Given the description of an element on the screen output the (x, y) to click on. 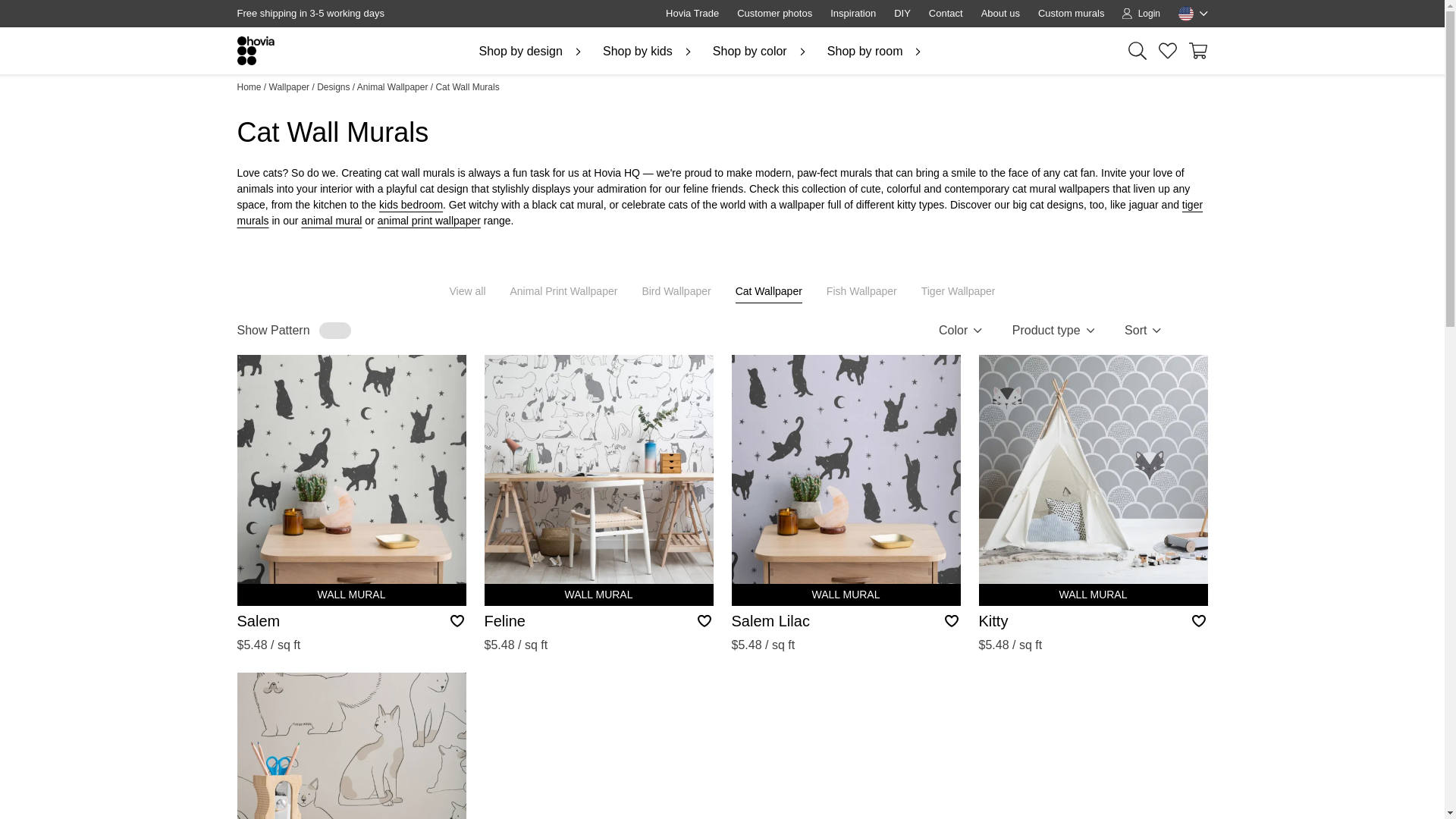
Login (1141, 13)
About us (1000, 13)
DIY (902, 13)
Custom murals (1071, 13)
Customer photos (774, 13)
Hovia Trade (692, 13)
Contact (946, 13)
Inspiration (853, 13)
Shop by design (532, 52)
